Given the description of an element on the screen output the (x, y) to click on. 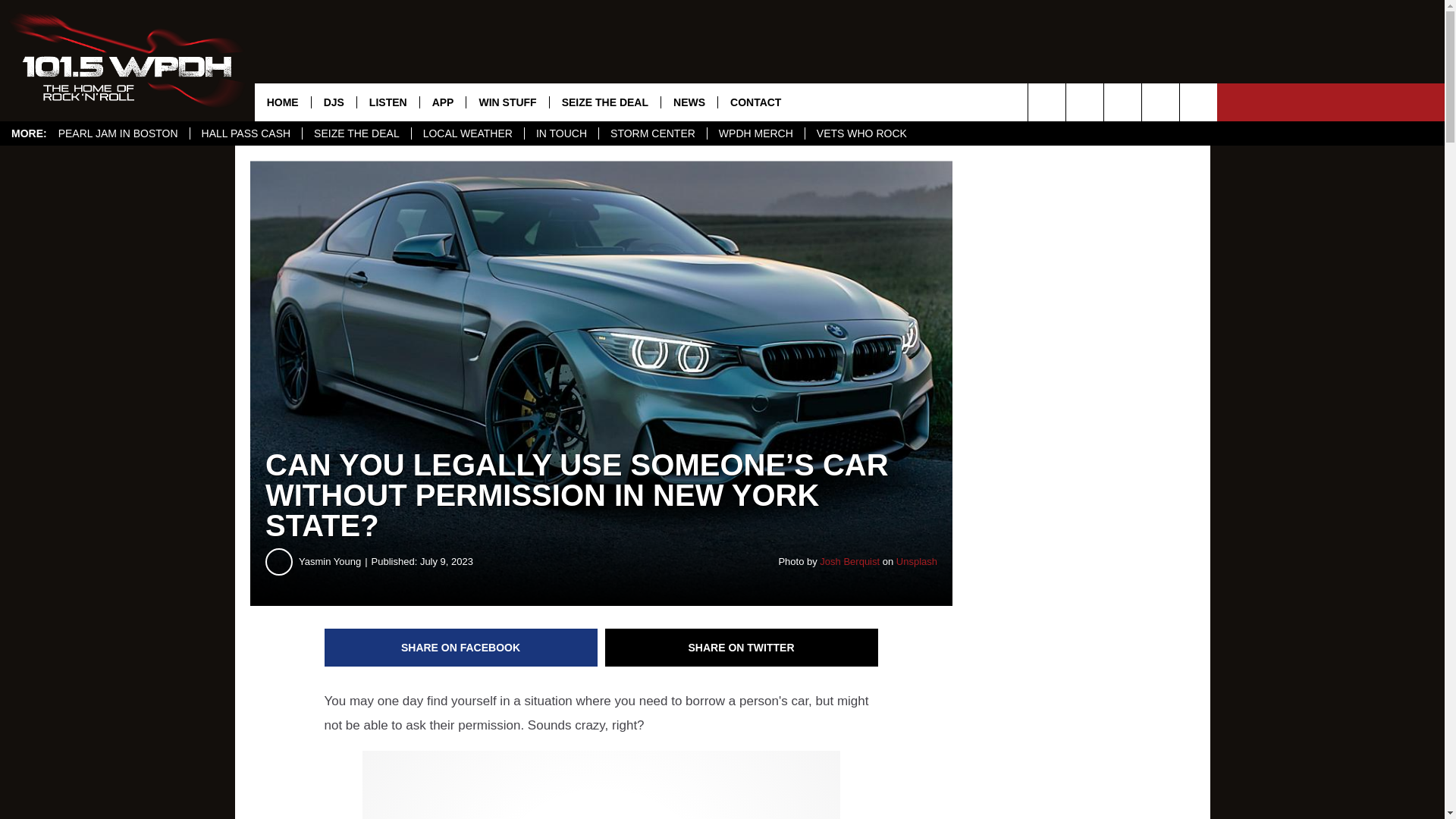
WPDH MERCH (755, 133)
NEWS (689, 102)
WIN STUFF (506, 102)
APP (442, 102)
Share on Twitter (741, 647)
Share on Facebook (460, 647)
SEIZE THE DEAL (604, 102)
PEARL JAM IN BOSTON (117, 133)
LISTEN (387, 102)
SEIZE THE DEAL (355, 133)
LOCAL WEATHER (467, 133)
STORM CENTER (652, 133)
DJS (333, 102)
VETS WHO ROCK (861, 133)
HOME (282, 102)
